Given the description of an element on the screen output the (x, y) to click on. 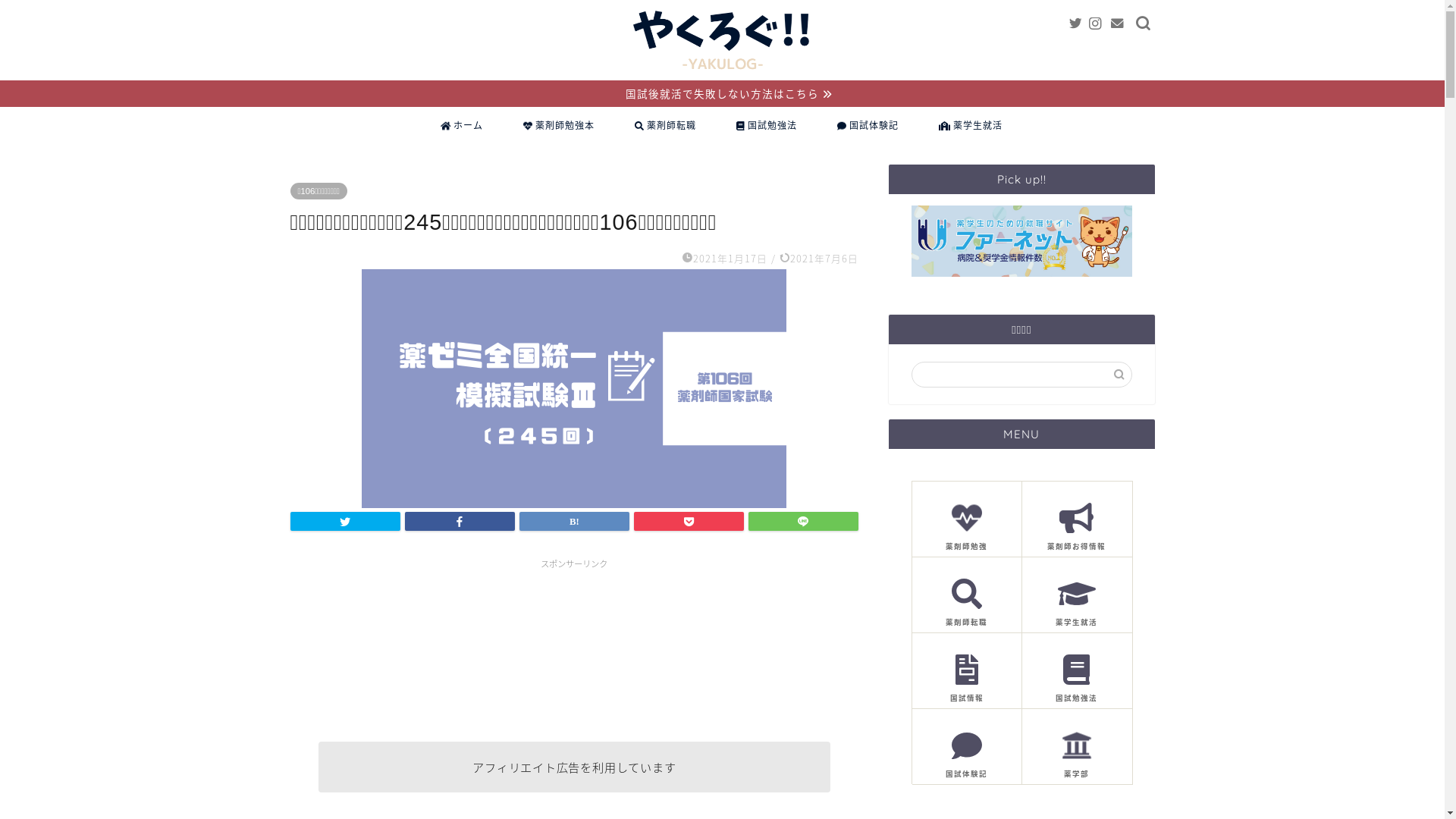
Advertisement Element type: hover (573, 647)
